Given the description of an element on the screen output the (x, y) to click on. 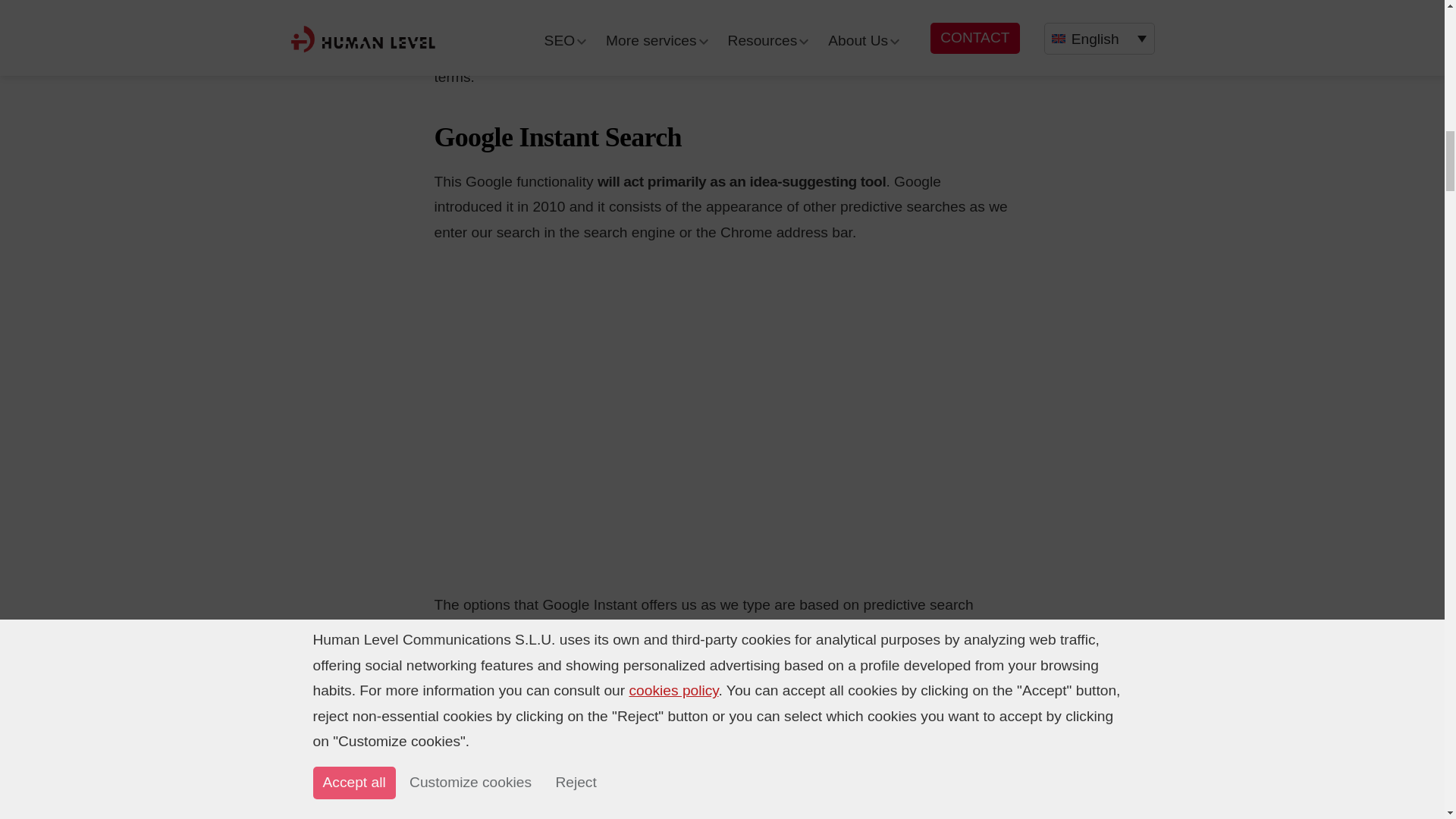
Definition of seasonality in our online marketing dictionary (844, 51)
